Given the description of an element on the screen output the (x, y) to click on. 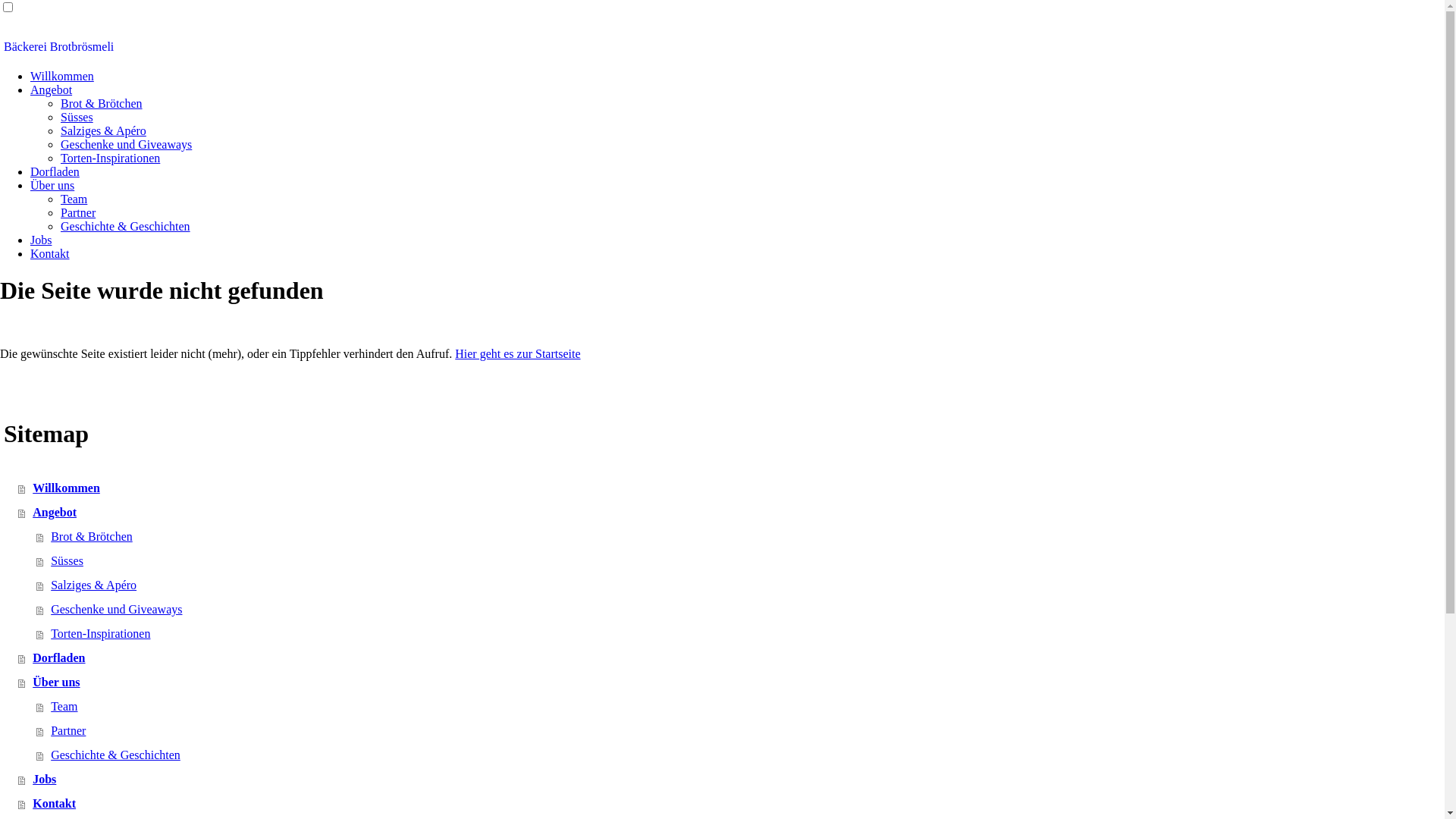
Jobs Element type: text (40, 239)
Geschenke und Giveaways Element type: text (125, 144)
Angebot Element type: text (731, 512)
Partner Element type: text (740, 730)
Jobs Element type: text (731, 779)
Team Element type: text (740, 706)
Willkommen Element type: text (62, 75)
Angebot Element type: text (51, 89)
Dorfladen Element type: text (54, 171)
Team Element type: text (73, 198)
Dorfladen Element type: text (731, 658)
Geschenke und Giveaways Element type: text (740, 609)
Torten-Inspirationen Element type: text (740, 633)
Kontakt Element type: text (731, 803)
Geschichte & Geschichten Element type: text (125, 225)
Torten-Inspirationen Element type: text (110, 157)
Geschichte & Geschichten Element type: text (740, 755)
Kontakt Element type: text (49, 253)
Partner Element type: text (77, 212)
Hier geht es zur Startseite Element type: text (517, 353)
Willkommen Element type: text (731, 488)
